Given the description of an element on the screen output the (x, y) to click on. 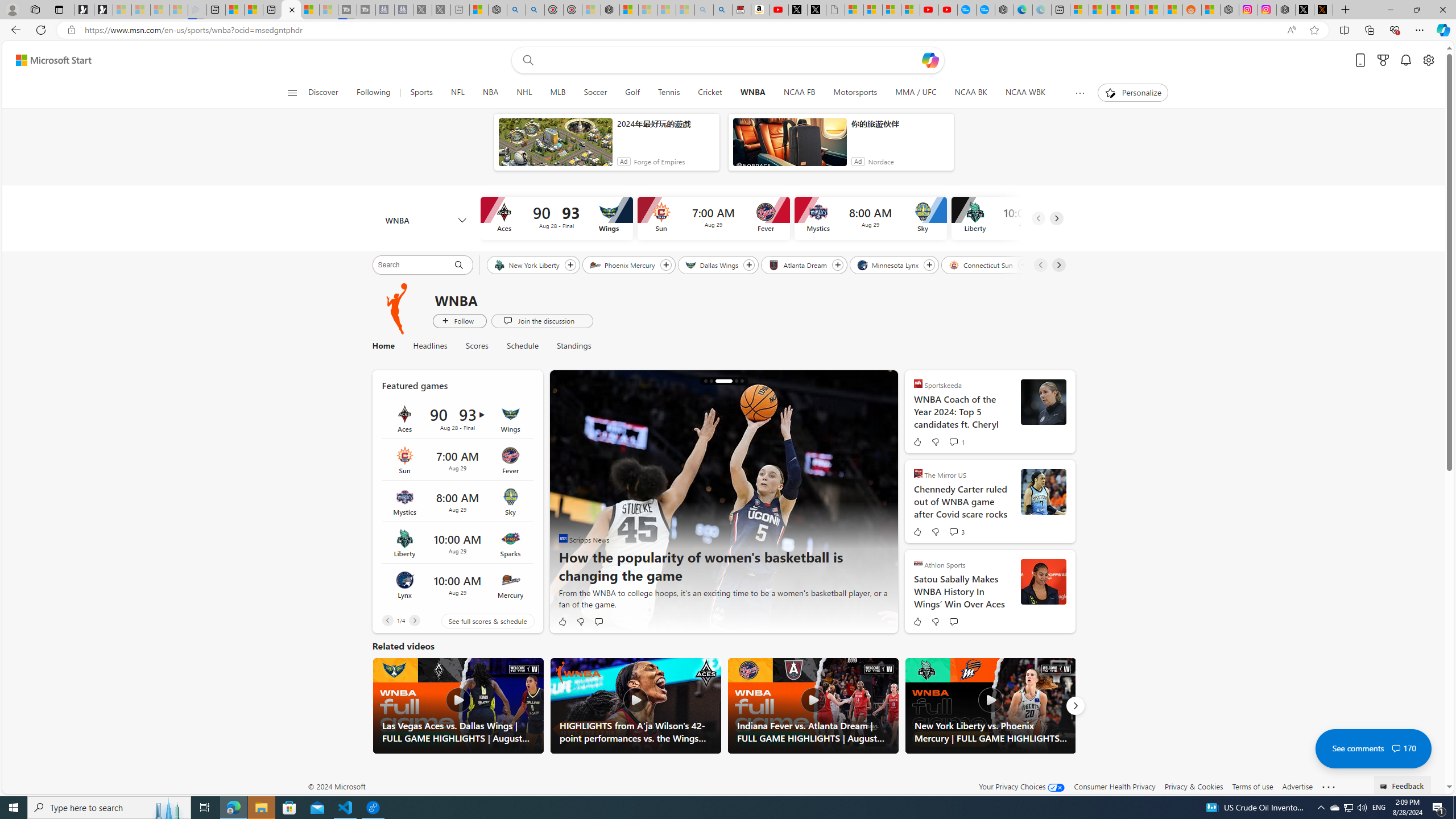
Motorsports (855, 92)
New York Liberty (526, 264)
Notifications (1405, 60)
Aces 90 vs Wings 93Final Date Aug 28 (456, 418)
The most popular Google 'how to' searches (985, 9)
Your Privacy Choices (1021, 785)
Scores (476, 345)
Untitled (835, 9)
Schedule (522, 345)
